Given the description of an element on the screen output the (x, y) to click on. 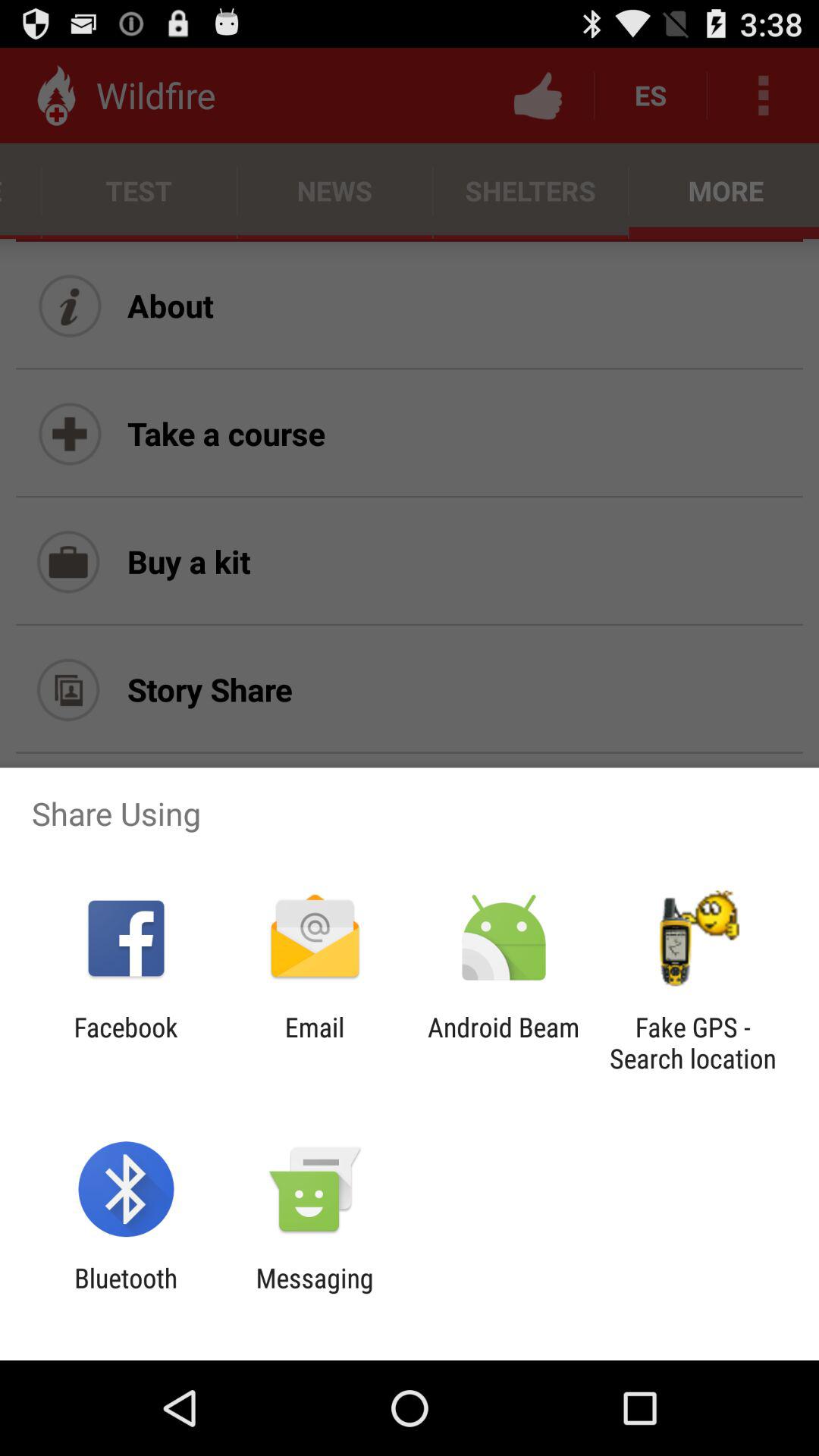
turn off the item to the left of the android beam (314, 1042)
